Given the description of an element on the screen output the (x, y) to click on. 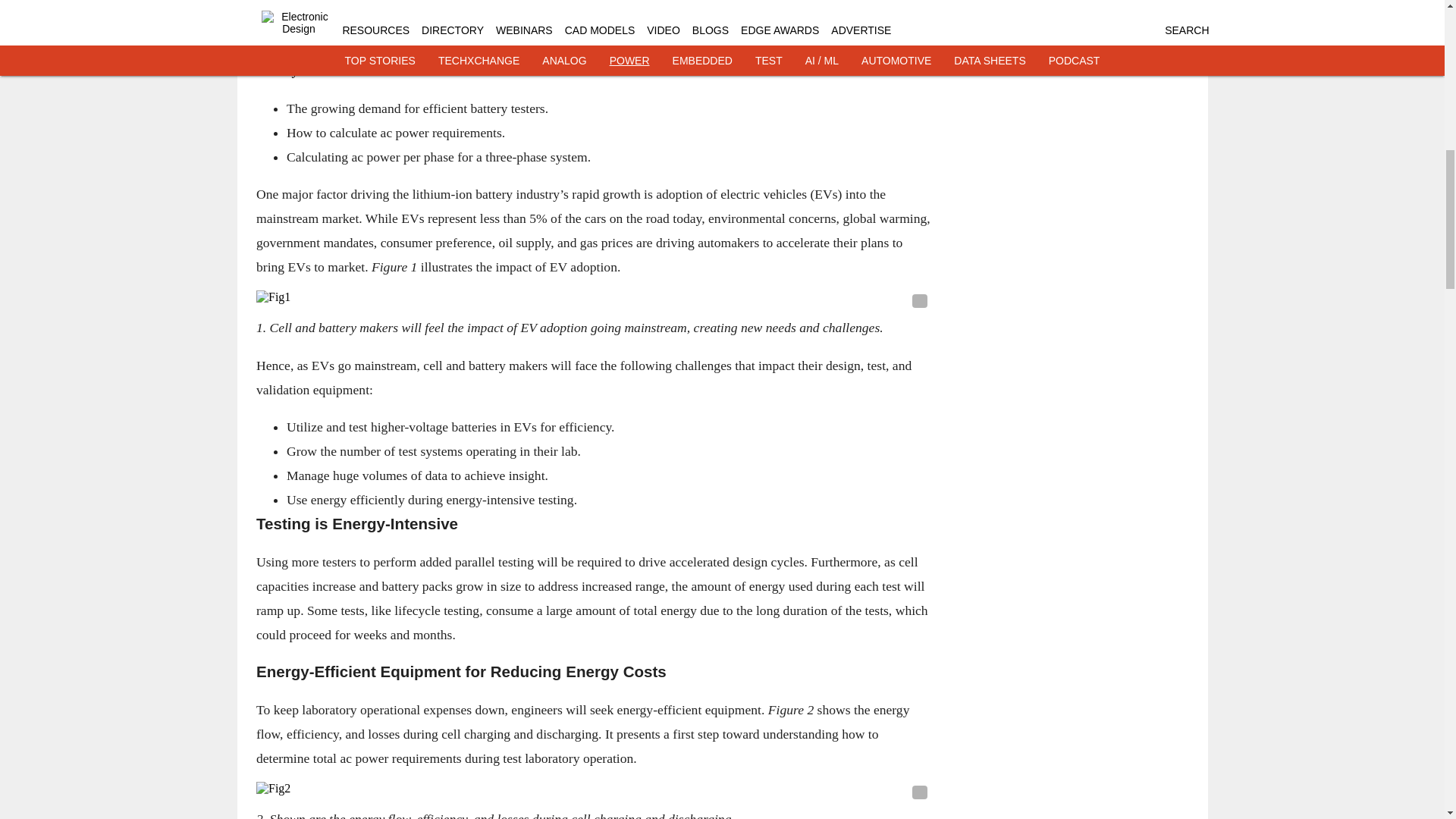
EV Battery Management (554, 1)
Fig2 (593, 788)
TechXchange (437, 1)
Fig1 (593, 296)
download this article in PDF format. (435, 32)
Members (281, 32)
